Given the description of an element on the screen output the (x, y) to click on. 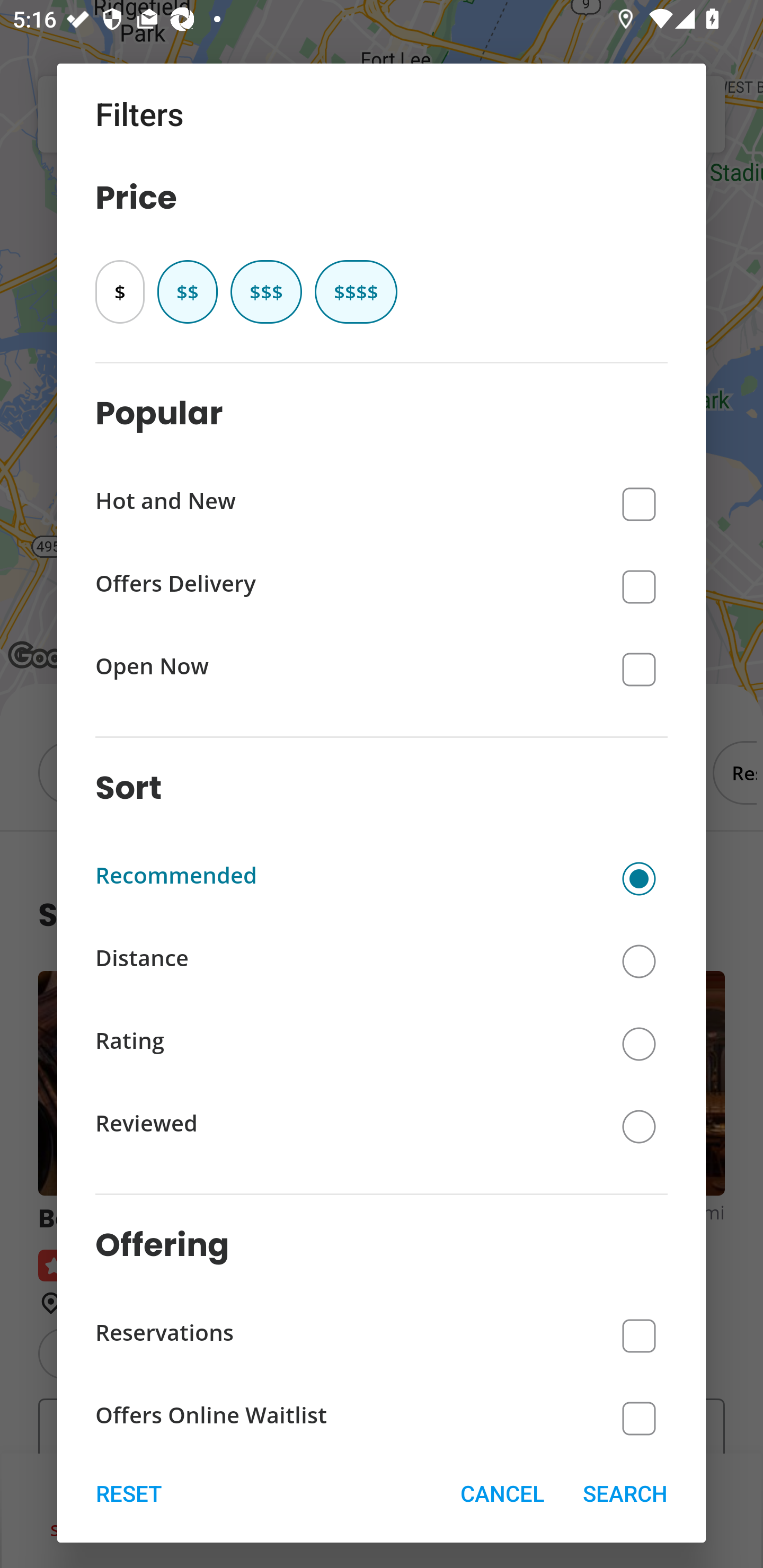
SEARCH (624, 1493)
